Given the description of an element on the screen output the (x, y) to click on. 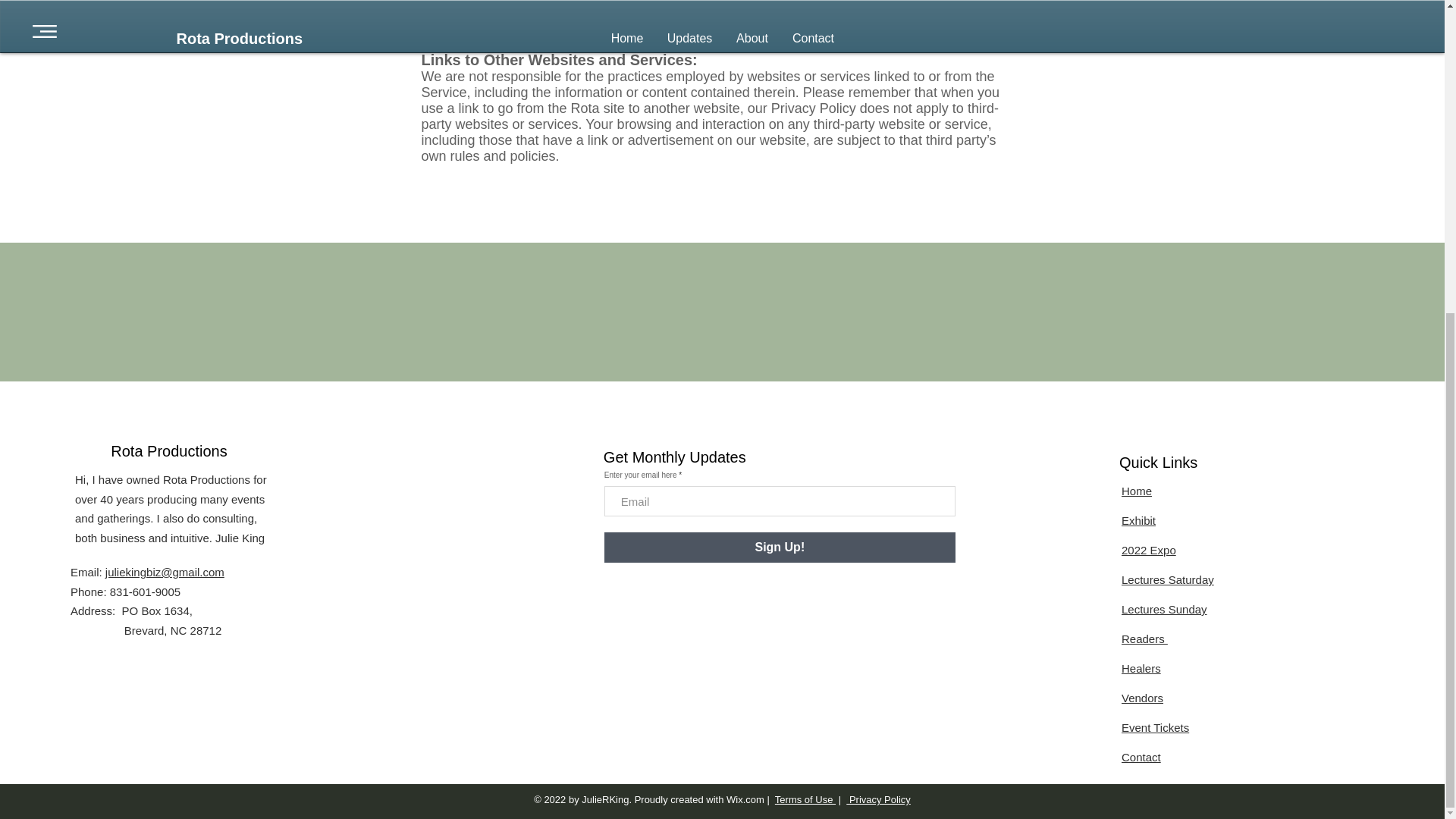
Lectures Saturday (1167, 579)
Vendors (1142, 697)
Healers (1140, 667)
Sign Up! (779, 547)
Terms of Use  (804, 799)
Contact (1140, 757)
Event Tickets (1155, 727)
Home (1136, 490)
 Privacy Policy (878, 799)
Lectures Sunday (1164, 608)
Wix.com (745, 799)
2022 Expo (1148, 549)
Exhibit (1138, 520)
Readers  (1144, 638)
